Given the description of an element on the screen output the (x, y) to click on. 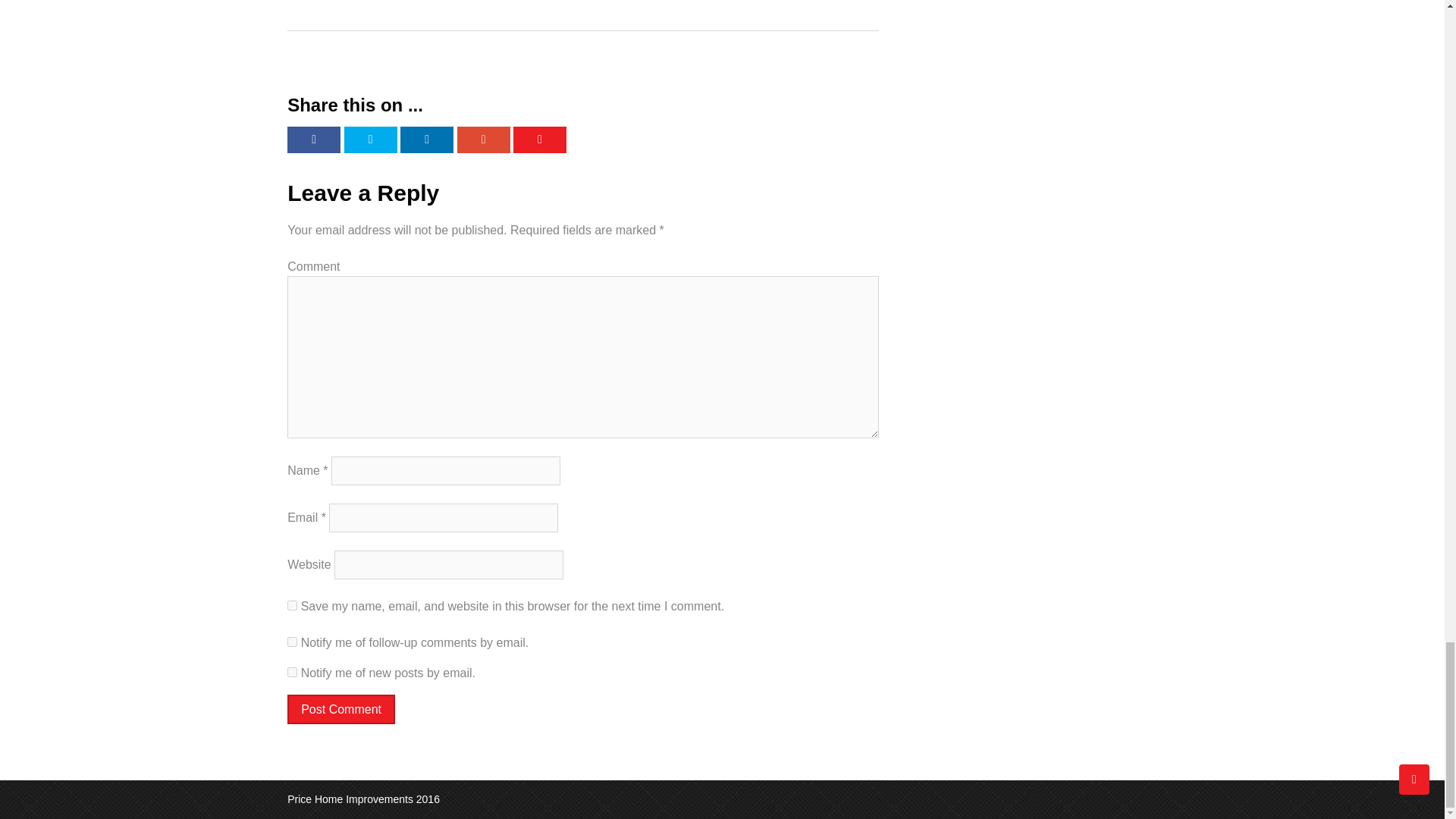
subscribe (291, 642)
subscribe (291, 672)
Post Comment (340, 708)
Post Comment (340, 708)
yes (291, 605)
